Given the description of an element on the screen output the (x, y) to click on. 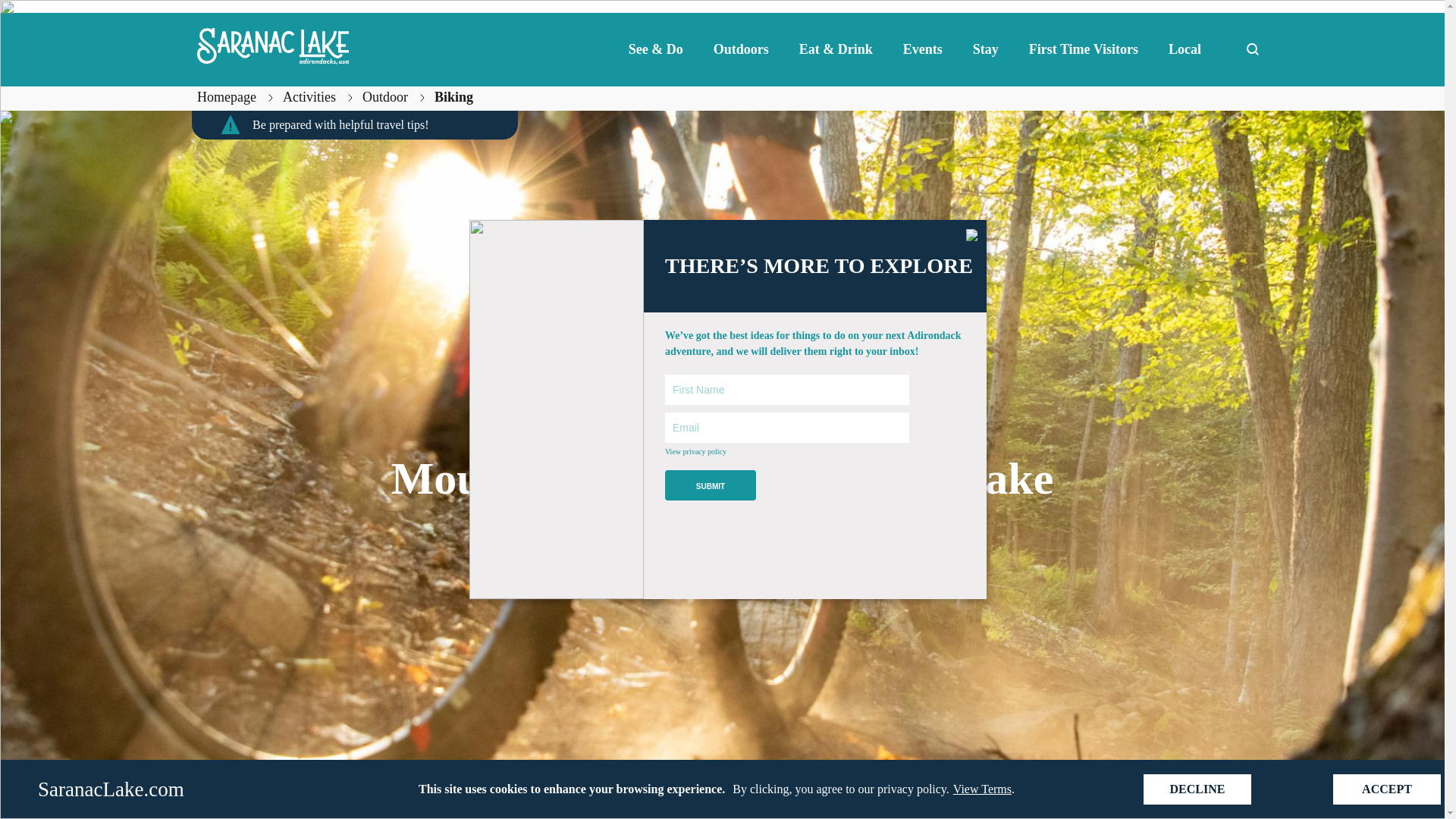
Submit (710, 485)
Outdoors (741, 48)
